Given the description of an element on the screen output the (x, y) to click on. 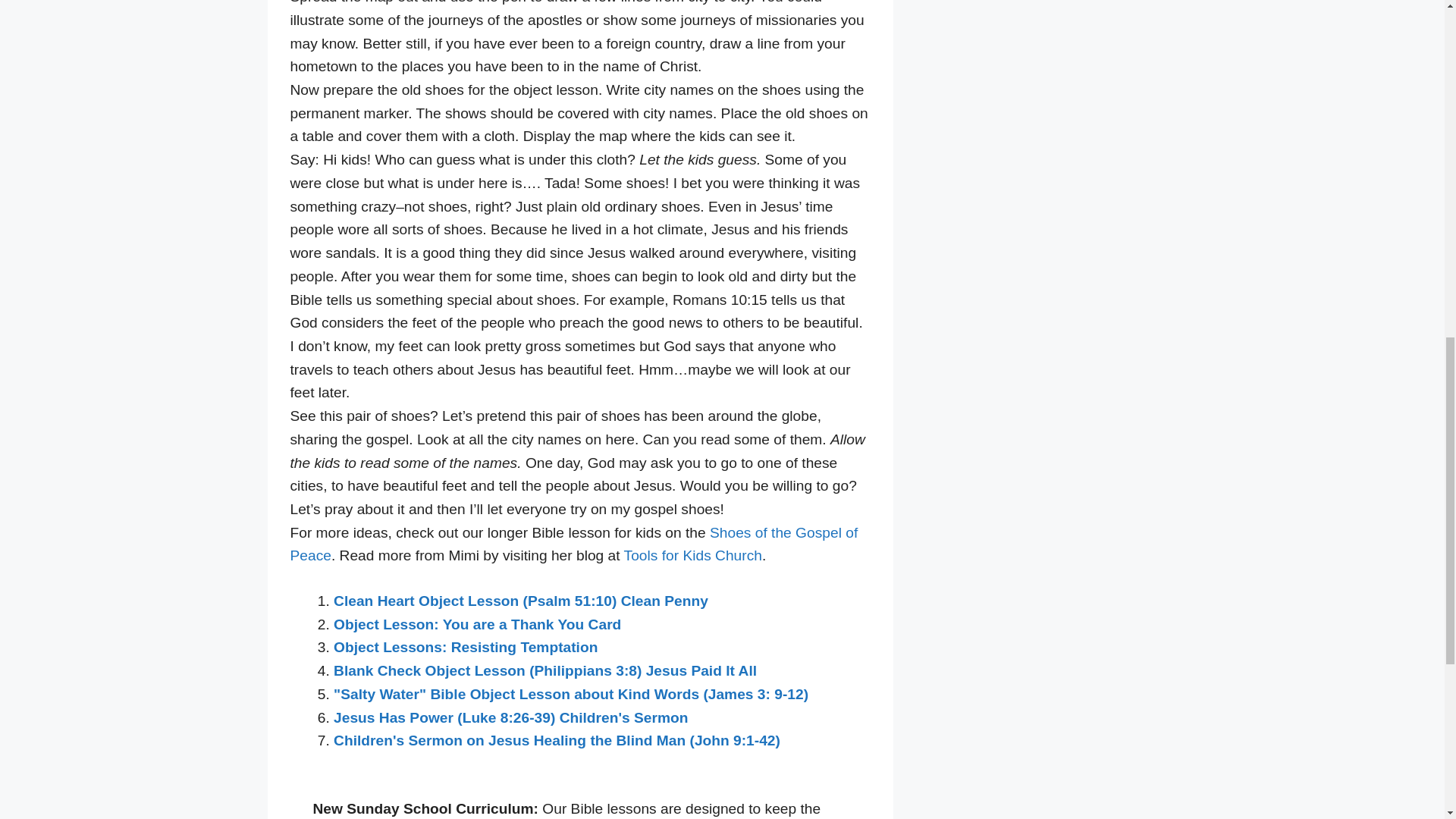
Tools for Kids Church (692, 555)
Object Lesson: You are a Thank You Card (477, 624)
Object Lessons: Resisting Temptation (464, 647)
Shoes of the Gospel of Peace (573, 544)
